Given the description of an element on the screen output the (x, y) to click on. 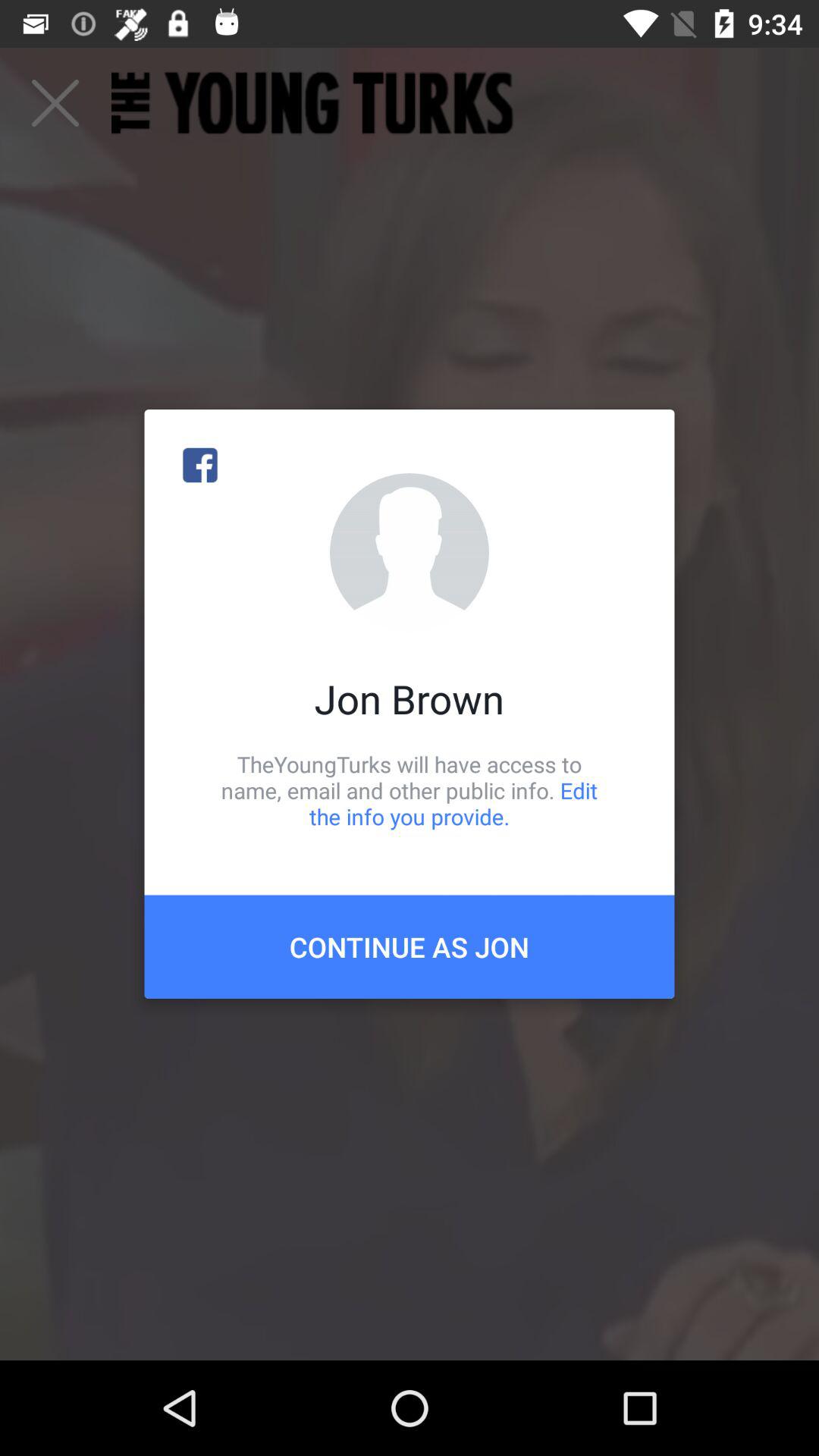
tap the continue as jon item (409, 946)
